Given the description of an element on the screen output the (x, y) to click on. 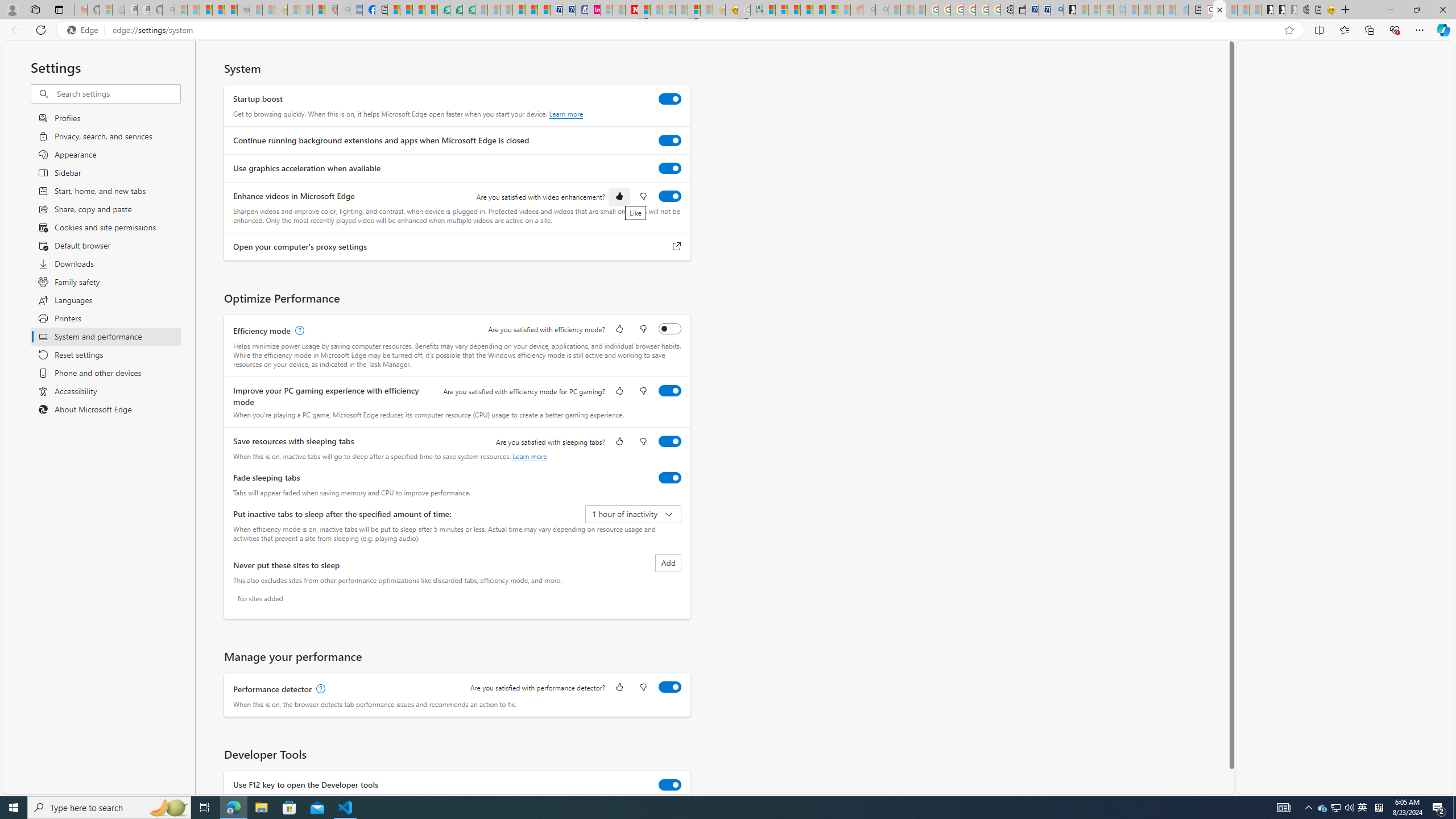
Efficiency mode, learn more (298, 330)
Local - MSN (318, 9)
Kinda Frugal - MSN (818, 9)
